Given the description of an element on the screen output the (x, y) to click on. 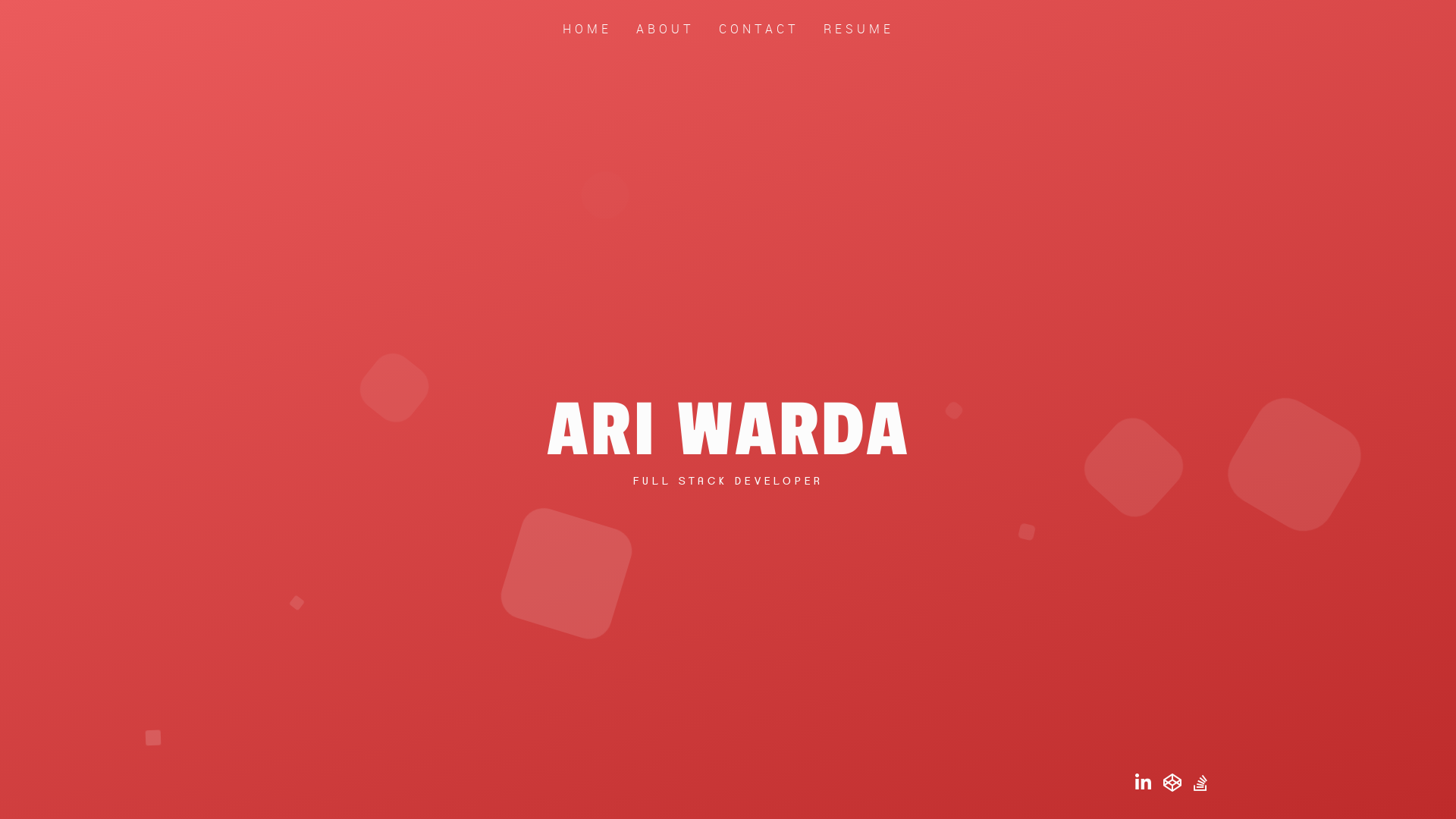
RESUME Element type: text (858, 28)
ABOUT Element type: text (664, 28)
HOME Element type: text (587, 28)
CONTACT Element type: text (758, 28)
